Given the description of an element on the screen output the (x, y) to click on. 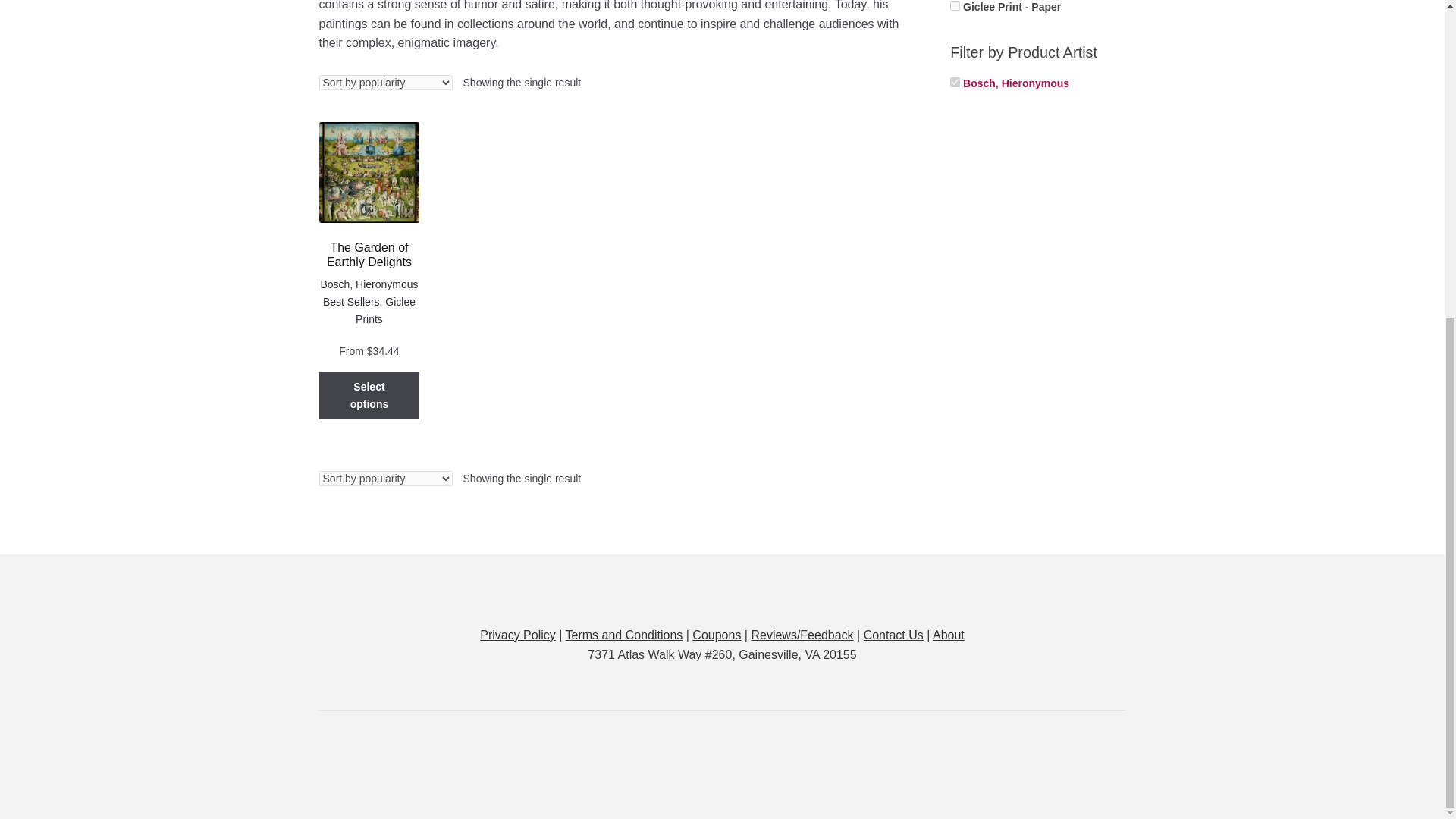
bosch-hieronymous (954, 81)
Bosch, Hieronymous (368, 284)
giclee-print-paper (954, 5)
Best Sellers (351, 301)
The Garden of Earthly Delights (369, 195)
